Given the description of an element on the screen output the (x, y) to click on. 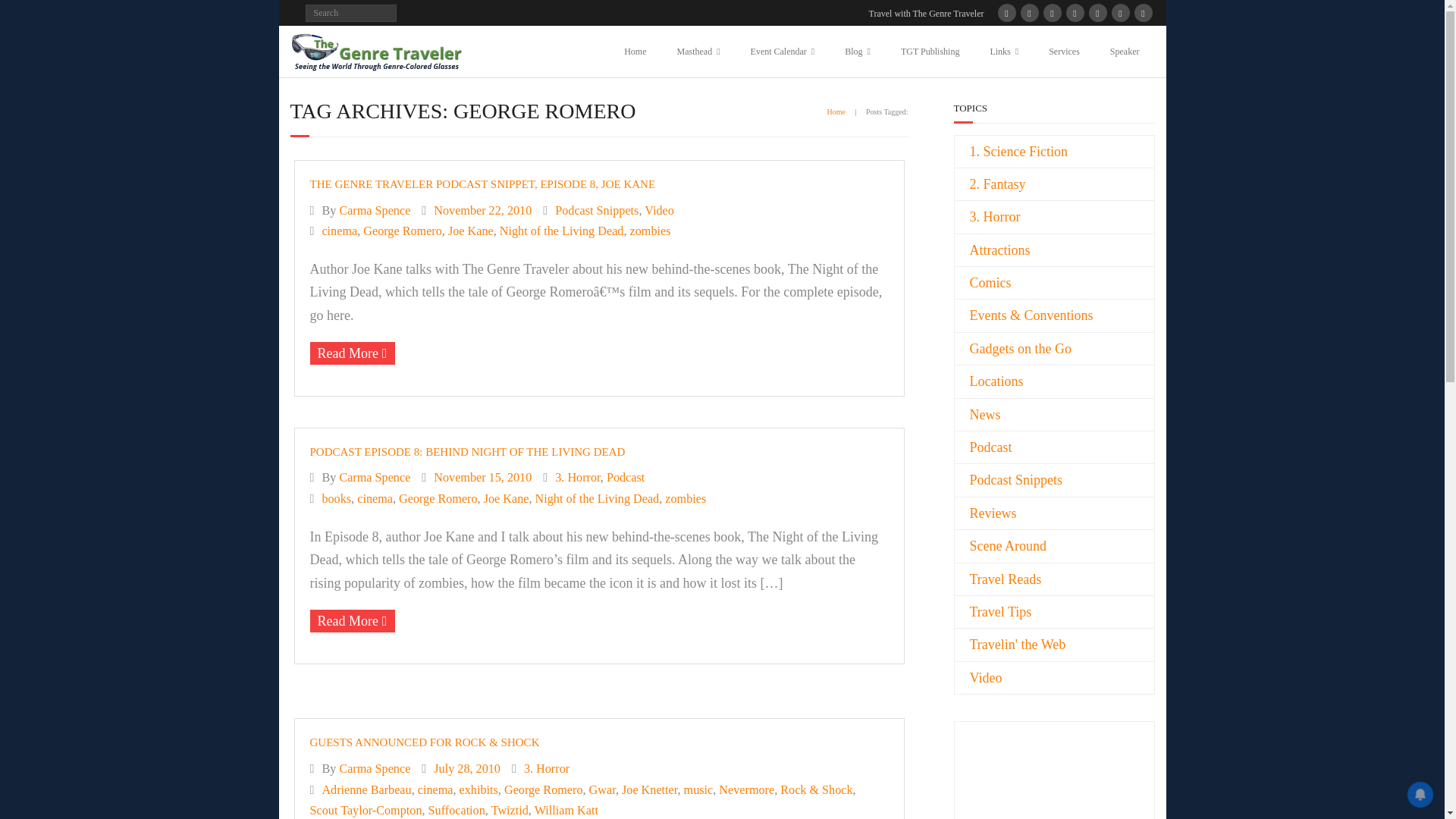
Search (24, 13)
Event Calendar (782, 50)
View all posts by Carma Spence (374, 477)
Advertisement (1014, 790)
Links (1003, 50)
Masthead (698, 50)
The Genre Traveler Podcast Snippet, Episode 8, Joe Kane (482, 210)
View all posts by Carma Spence (374, 768)
View all posts by Carma Spence (374, 210)
Podcast Episode 8: Behind Night of the Living Dead (482, 477)
Blog (857, 50)
TGT Publishing (929, 50)
Home (634, 50)
